Given the description of an element on the screen output the (x, y) to click on. 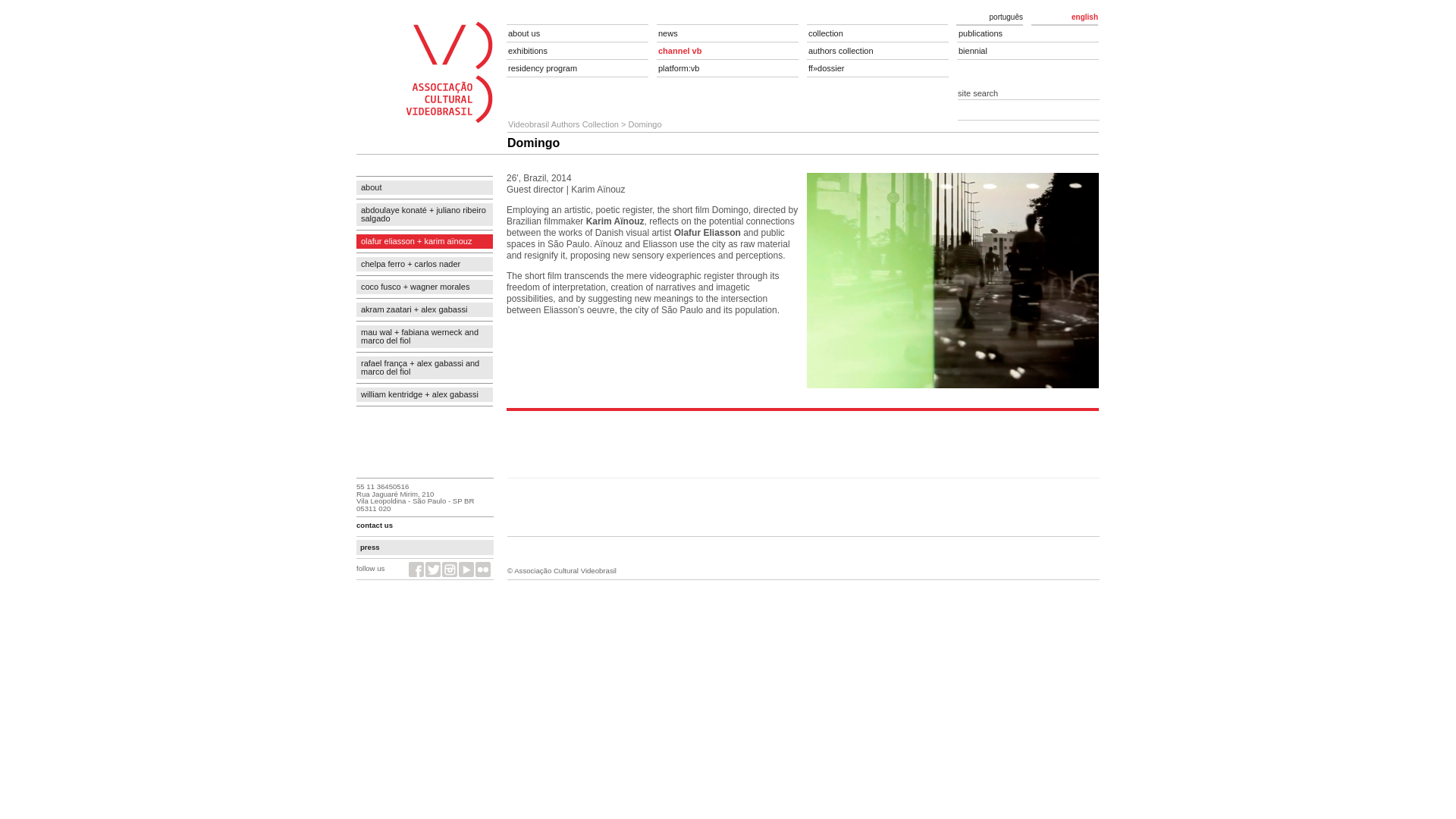
collection (877, 33)
press (369, 546)
go to start page (727, 71)
about (424, 187)
biennial (1027, 50)
authors collection (877, 50)
contact us (374, 524)
exhibitions (576, 50)
Videobrasil Authors Collection (563, 123)
about us (576, 33)
